Given the description of an element on the screen output the (x, y) to click on. 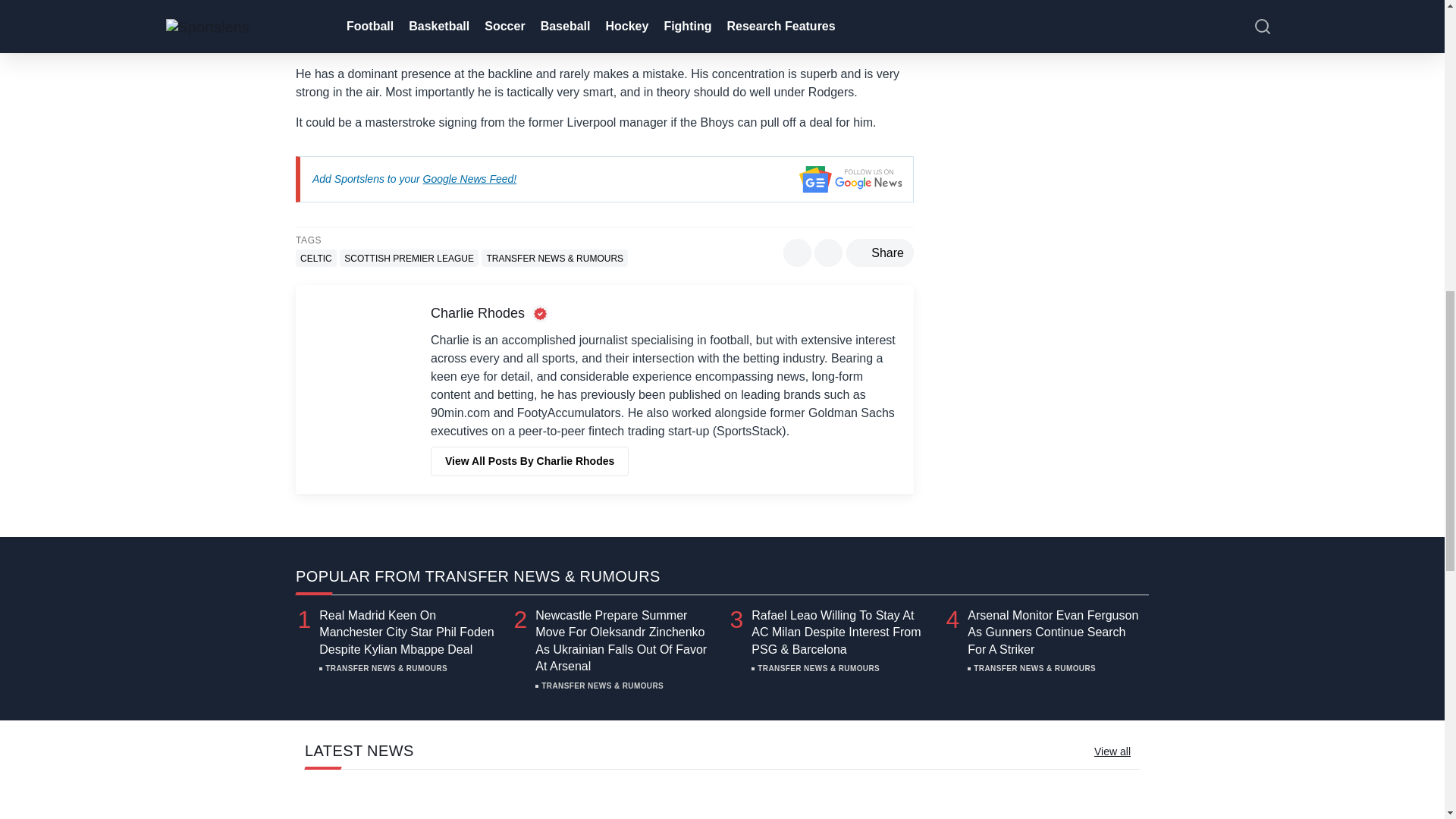
CELTIC (315, 257)
Google News Feed! (469, 178)
View All Posts By Charlie Rhodes (529, 460)
Share (879, 252)
SCOTTISH PREMIER LEAGUE (409, 257)
